Given the description of an element on the screen output the (x, y) to click on. 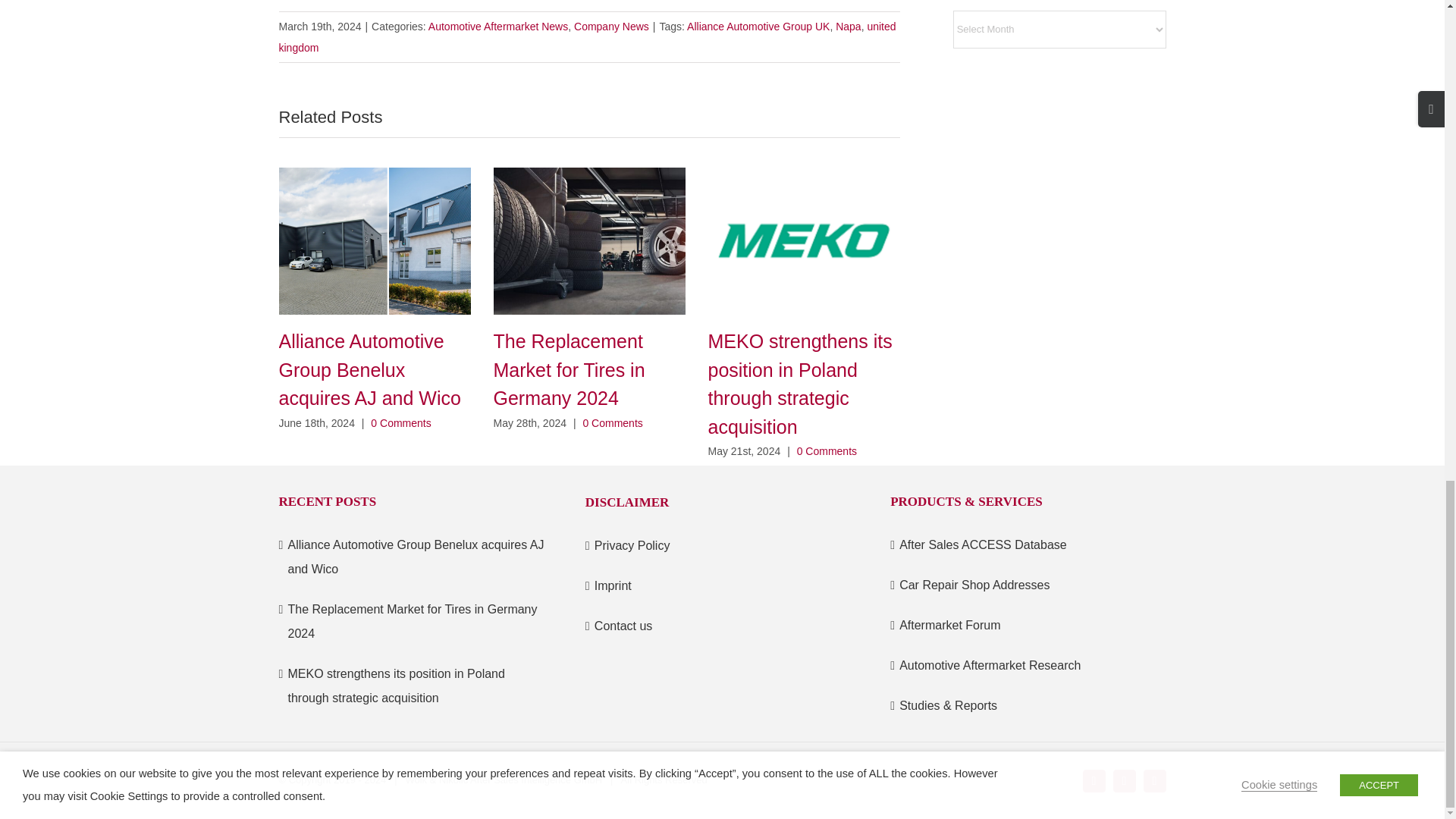
Alliance Automotive Group Benelux acquires AJ and Wico (370, 369)
The Replacement Market for Tires in Germany 2024 (569, 369)
